Given the description of an element on the screen output the (x, y) to click on. 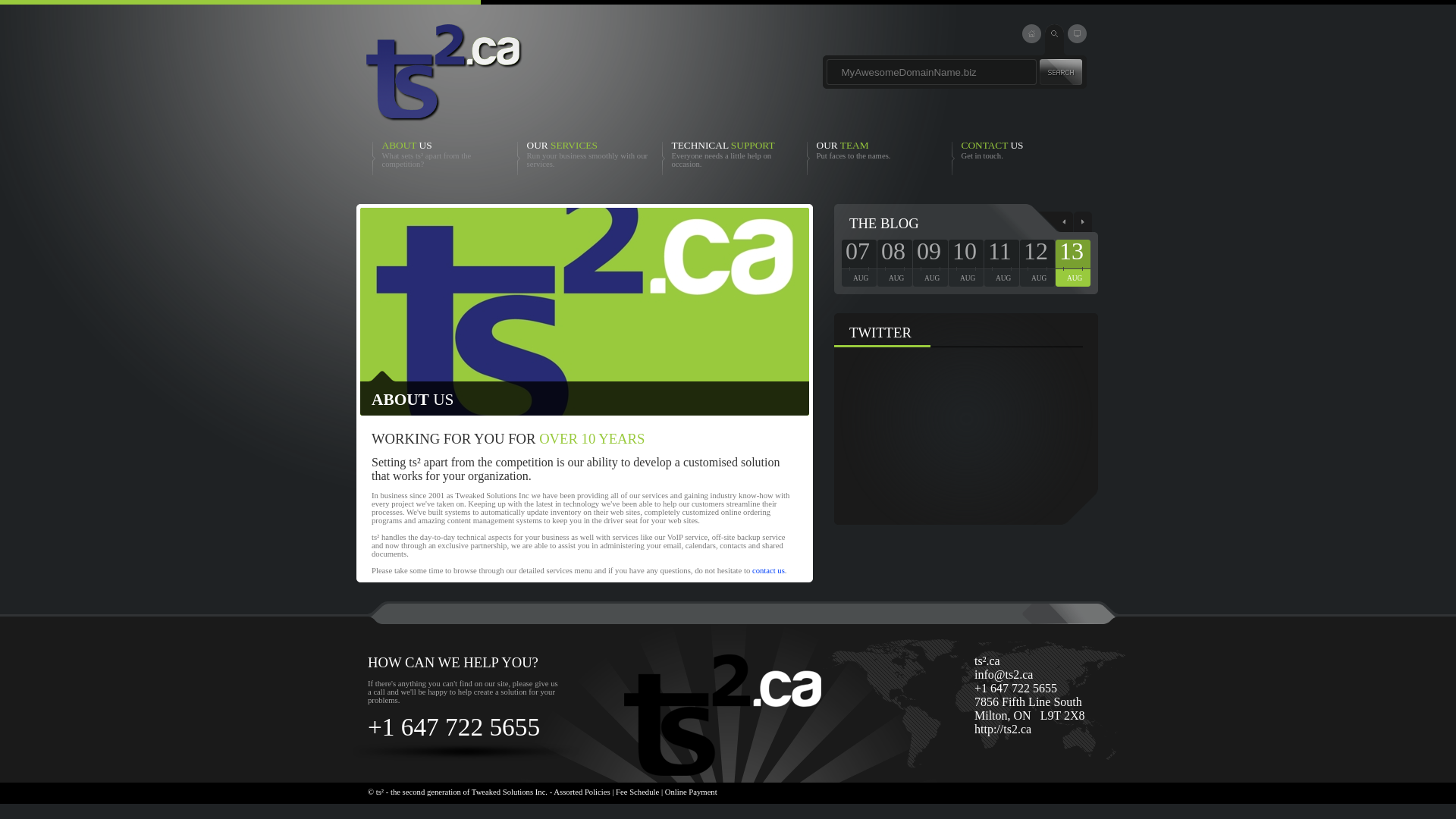
ABOUT US (406, 144)
search (1060, 71)
OUR SERVICES (560, 144)
